Given the description of an element on the screen output the (x, y) to click on. 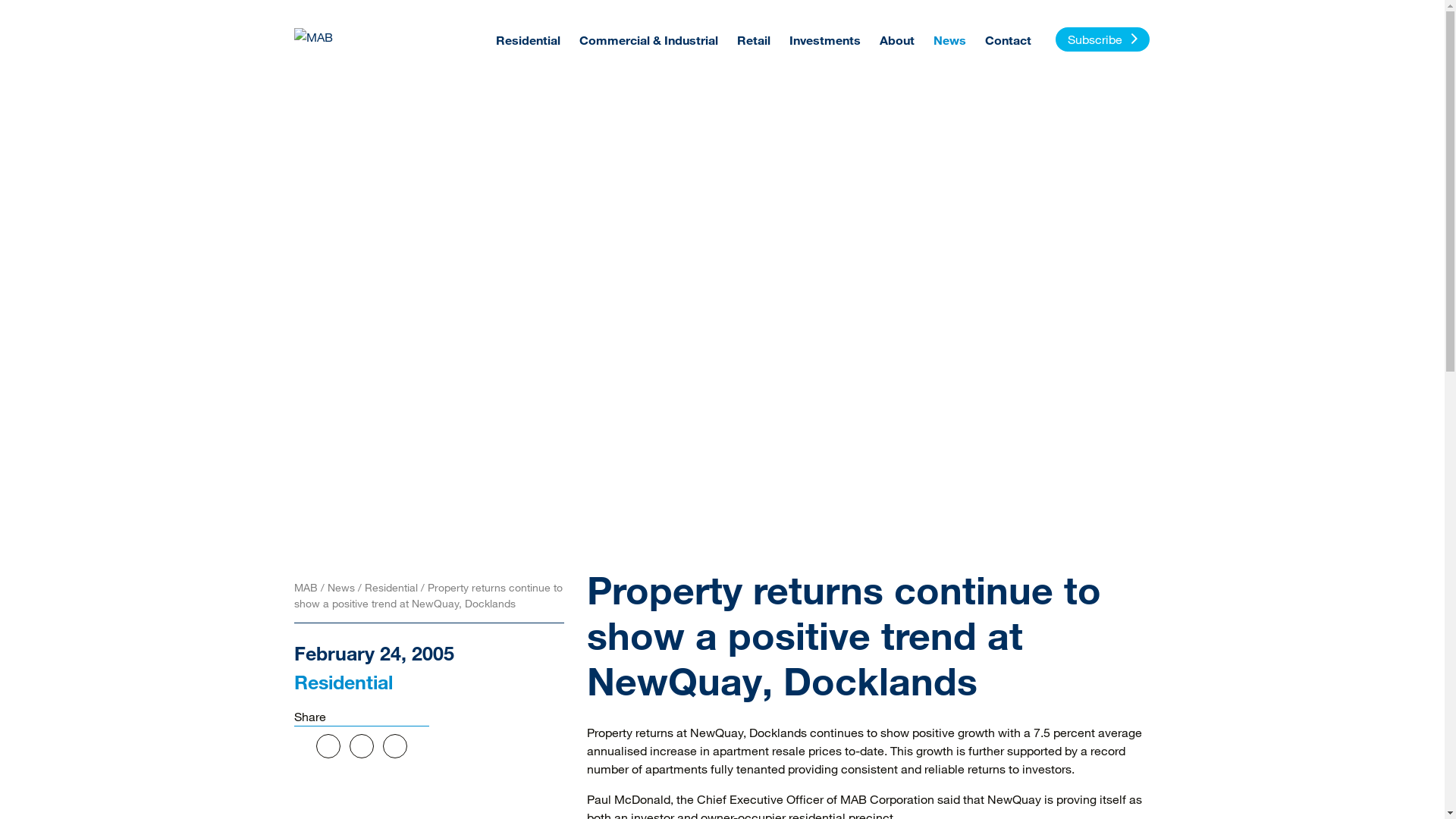
Commercial & Industrial Element type: text (648, 37)
News Element type: text (948, 37)
Retail Element type: text (753, 37)
Residential Element type: text (343, 680)
About Element type: text (896, 37)
Contact Element type: text (1007, 37)
Investments Element type: text (823, 37)
Subscribe Element type: text (1102, 39)
MAB Element type: text (307, 586)
Residential Element type: text (392, 586)
Residential Element type: text (527, 37)
News Element type: text (342, 586)
